Given the description of an element on the screen output the (x, y) to click on. 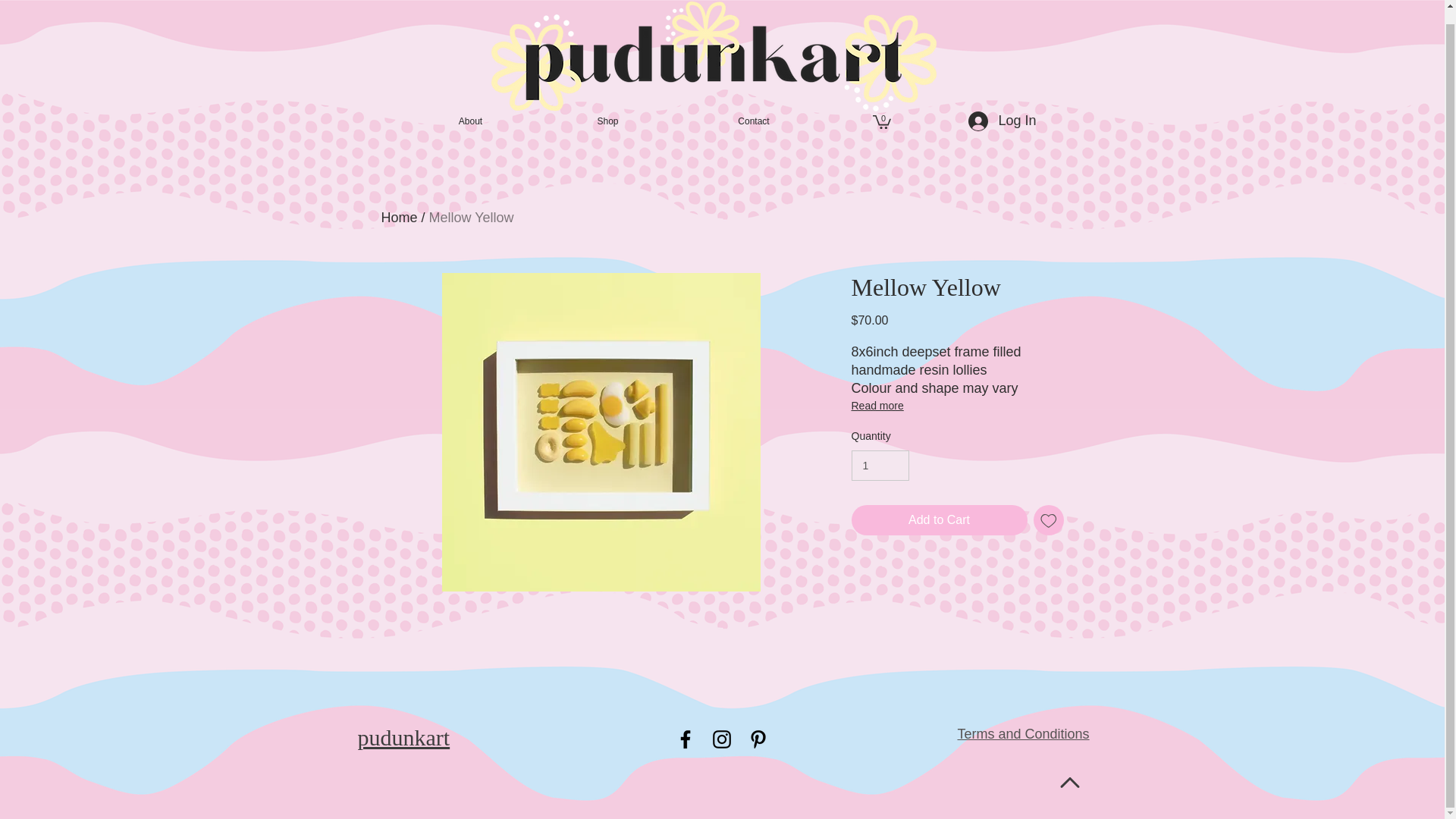
0 (880, 120)
Read more (956, 405)
1 (879, 465)
Contact (752, 121)
Shop (606, 121)
Home (398, 217)
Add to Cart (938, 520)
Terms and Conditions (1022, 734)
pudunkart (403, 737)
About (469, 121)
Log In (986, 121)
0 (880, 121)
Mellow Yellow (471, 217)
